Given the description of an element on the screen output the (x, y) to click on. 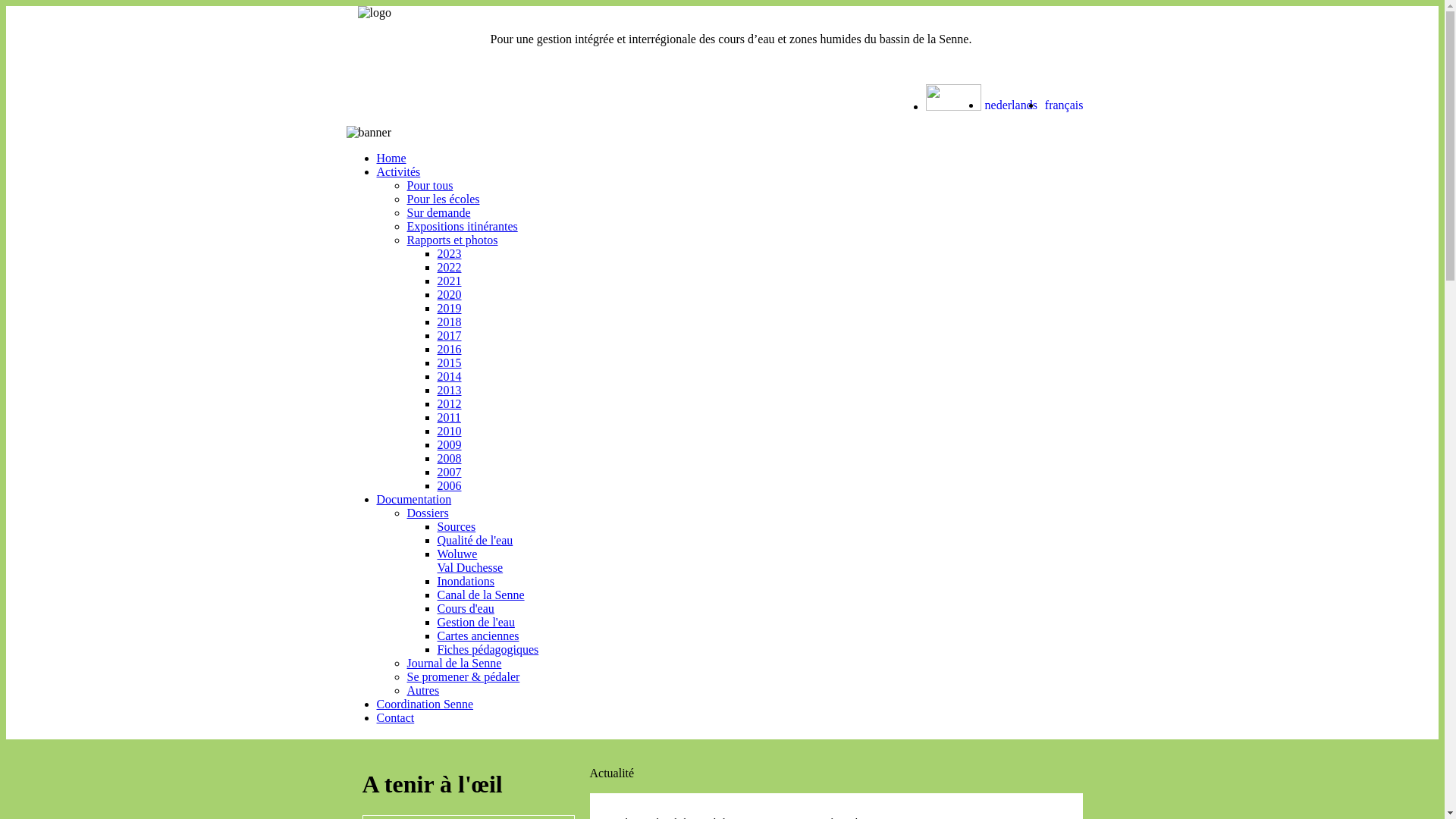
Woluwe
Val Duchesse Element type: text (469, 560)
2017 Element type: text (448, 335)
Home Element type: text (390, 157)
Rapports et photos Element type: text (451, 239)
2016 Element type: text (448, 348)
2006 Element type: text (448, 485)
2010 Element type: text (448, 430)
Cours d'eau Element type: text (464, 608)
2012 Element type: text (448, 403)
Gestion de l'eau Element type: text (475, 621)
Journal de la Senne Element type: text (453, 662)
2011 Element type: text (448, 417)
2020 Element type: text (448, 294)
nederlands Element type: text (1011, 104)
Pour tous Element type: text (429, 184)
Coordination Senne Element type: text (424, 703)
2019 Element type: text (448, 307)
2014 Element type: text (448, 376)
Autres Element type: text (422, 690)
Documentation Element type: text (413, 498)
2022 Element type: text (448, 266)
2013 Element type: text (448, 389)
2021 Element type: text (448, 280)
Canal de la Senne Element type: text (480, 594)
2009 Element type: text (448, 444)
2015 Element type: text (448, 362)
Contact Element type: text (395, 717)
2007 Element type: text (448, 471)
2023 Element type: text (448, 253)
Sources Element type: text (455, 526)
2008 Element type: text (448, 457)
2018 Element type: text (448, 321)
Inondations Element type: text (465, 580)
Cartes anciennes Element type: text (477, 635)
Sur demande Element type: text (438, 212)
Dossiers Element type: text (427, 512)
